Given the description of an element on the screen output the (x, y) to click on. 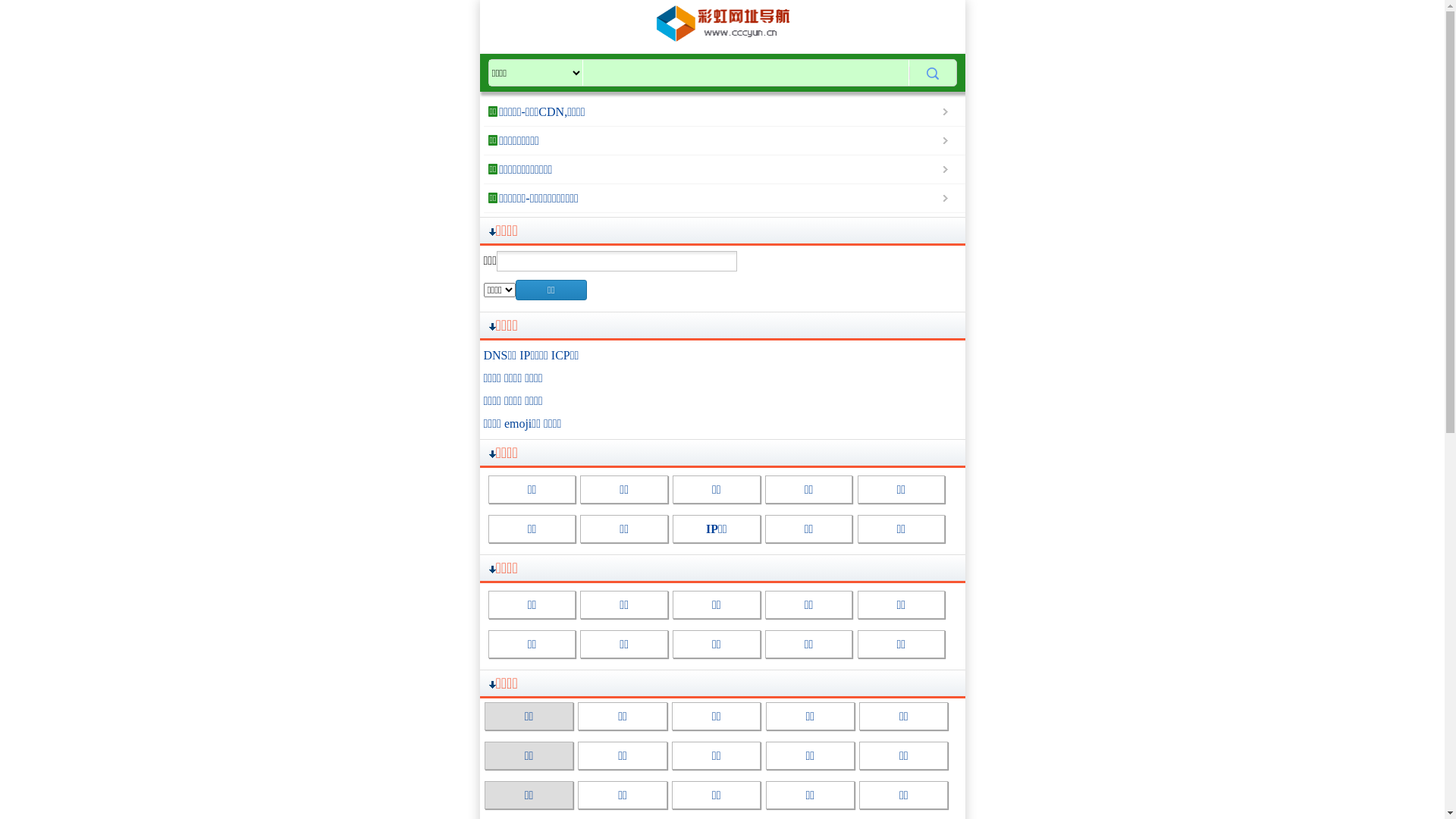
  Element type: text (932, 72)
